Given the description of an element on the screen output the (x, y) to click on. 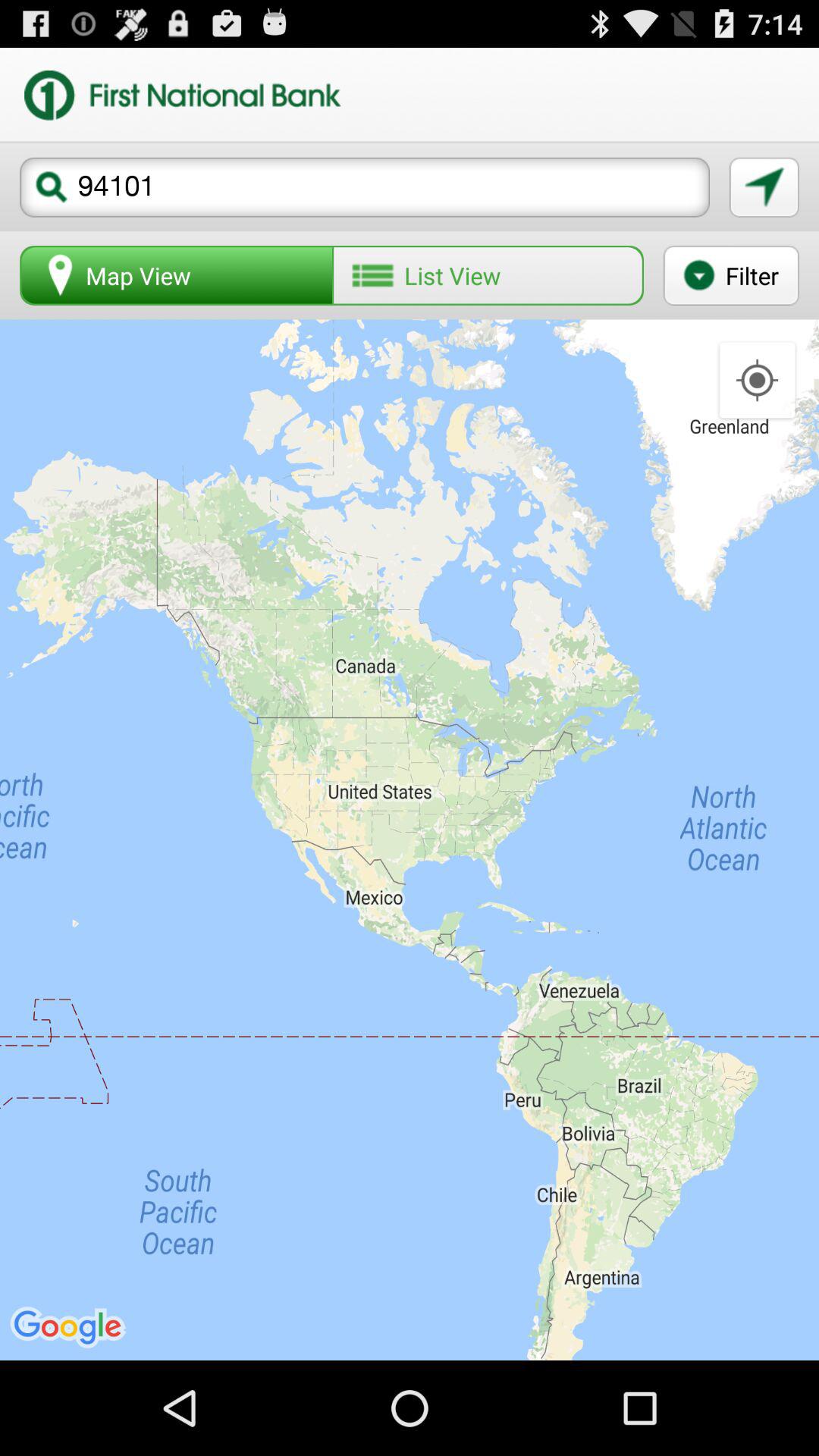
click button next to list view button (731, 275)
